Given the description of an element on the screen output the (x, y) to click on. 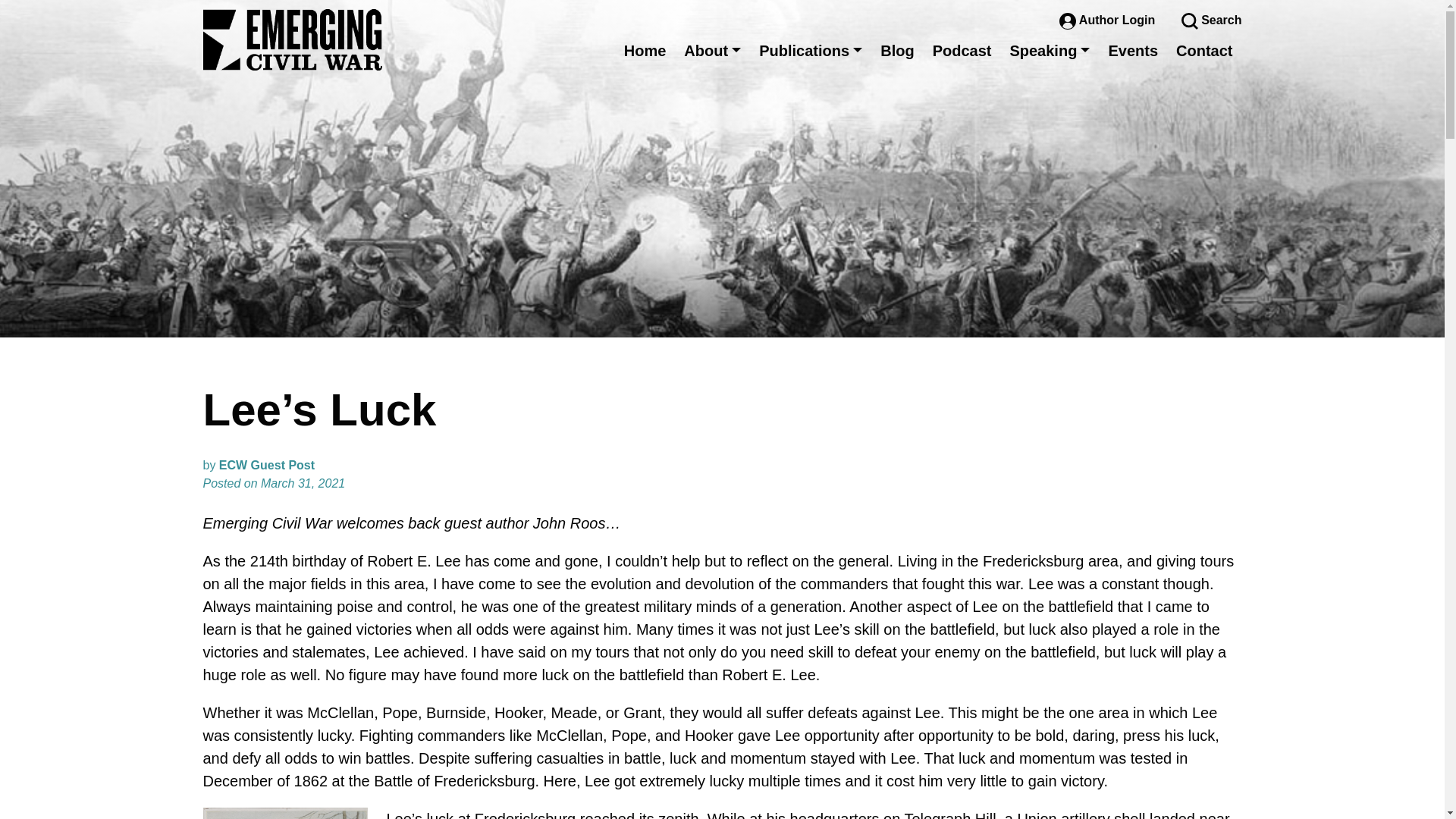
Speaking (1049, 50)
Home (644, 50)
About (712, 50)
Contact (1204, 50)
Publications (809, 50)
Events (1133, 50)
Search (1210, 19)
Podcast (962, 50)
ECW Guest Post (266, 464)
Author Login (1108, 19)
